Given the description of an element on the screen output the (x, y) to click on. 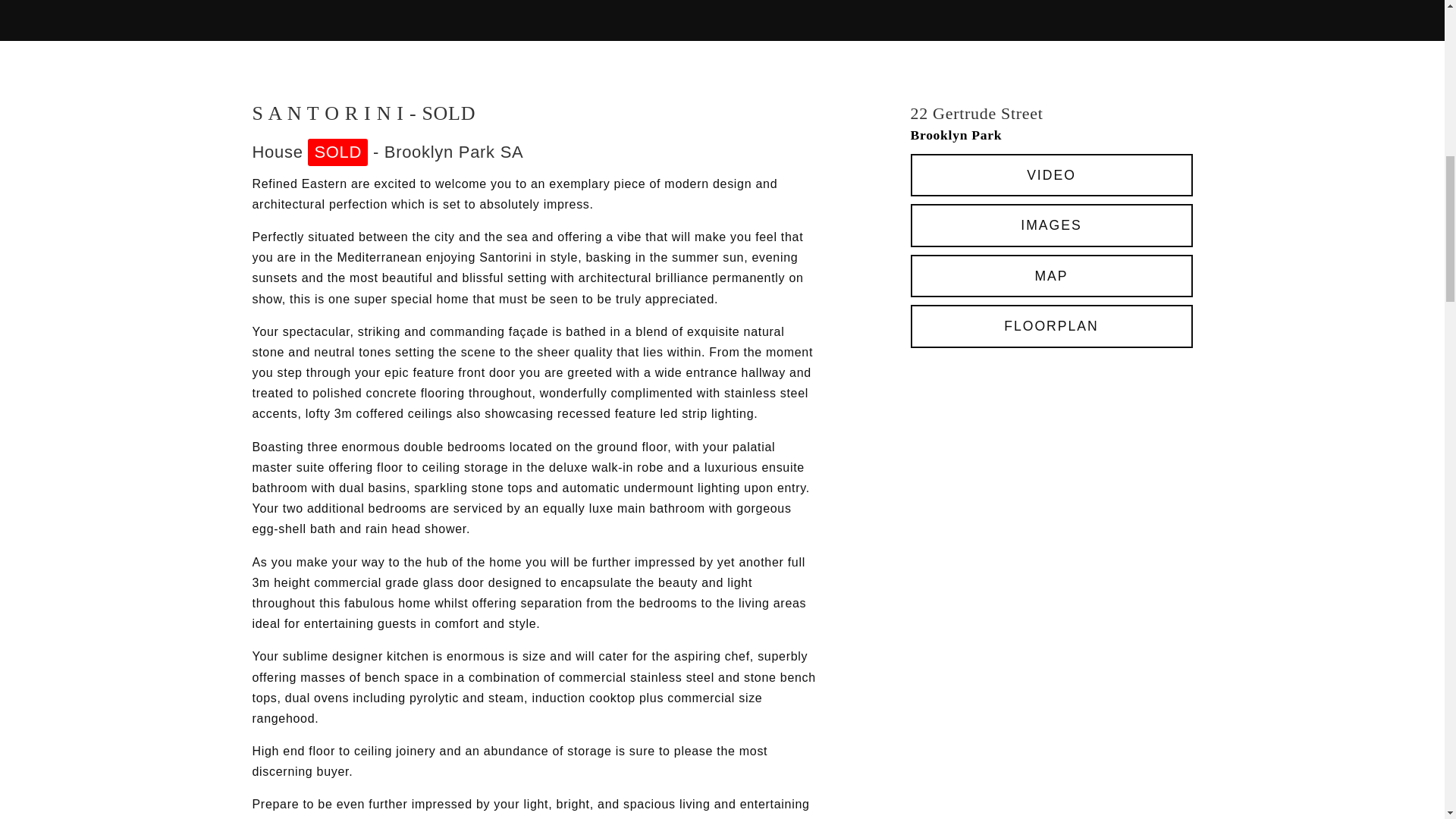
MAP (1051, 276)
VIDEO (1051, 175)
IMAGES (1051, 225)
FLOORPLAN (1051, 326)
